Given the description of an element on the screen output the (x, y) to click on. 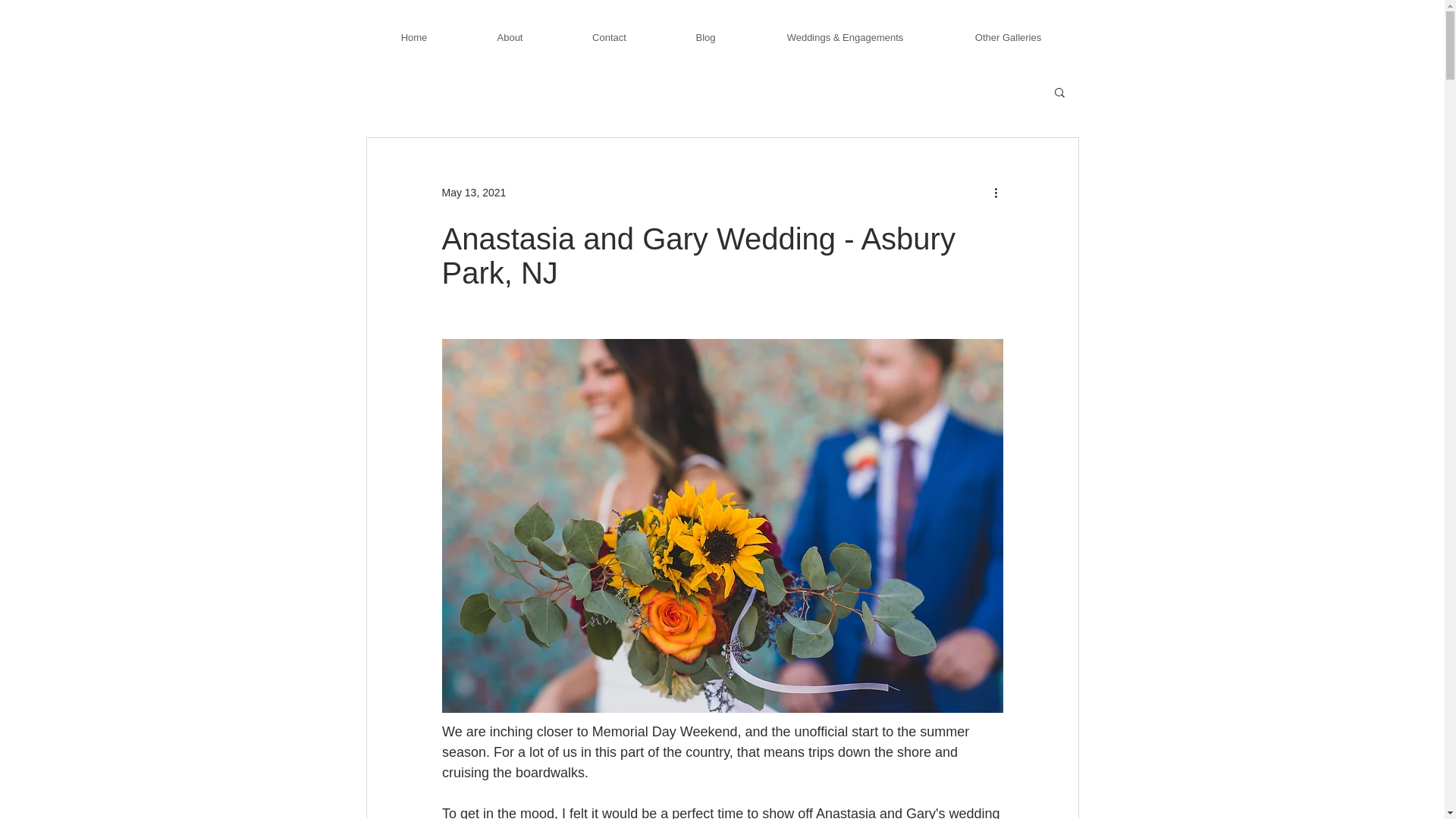
Contact (609, 30)
About (510, 30)
Home (413, 30)
Blog (706, 30)
May 13, 2021 (473, 192)
